Given the description of an element on the screen output the (x, y) to click on. 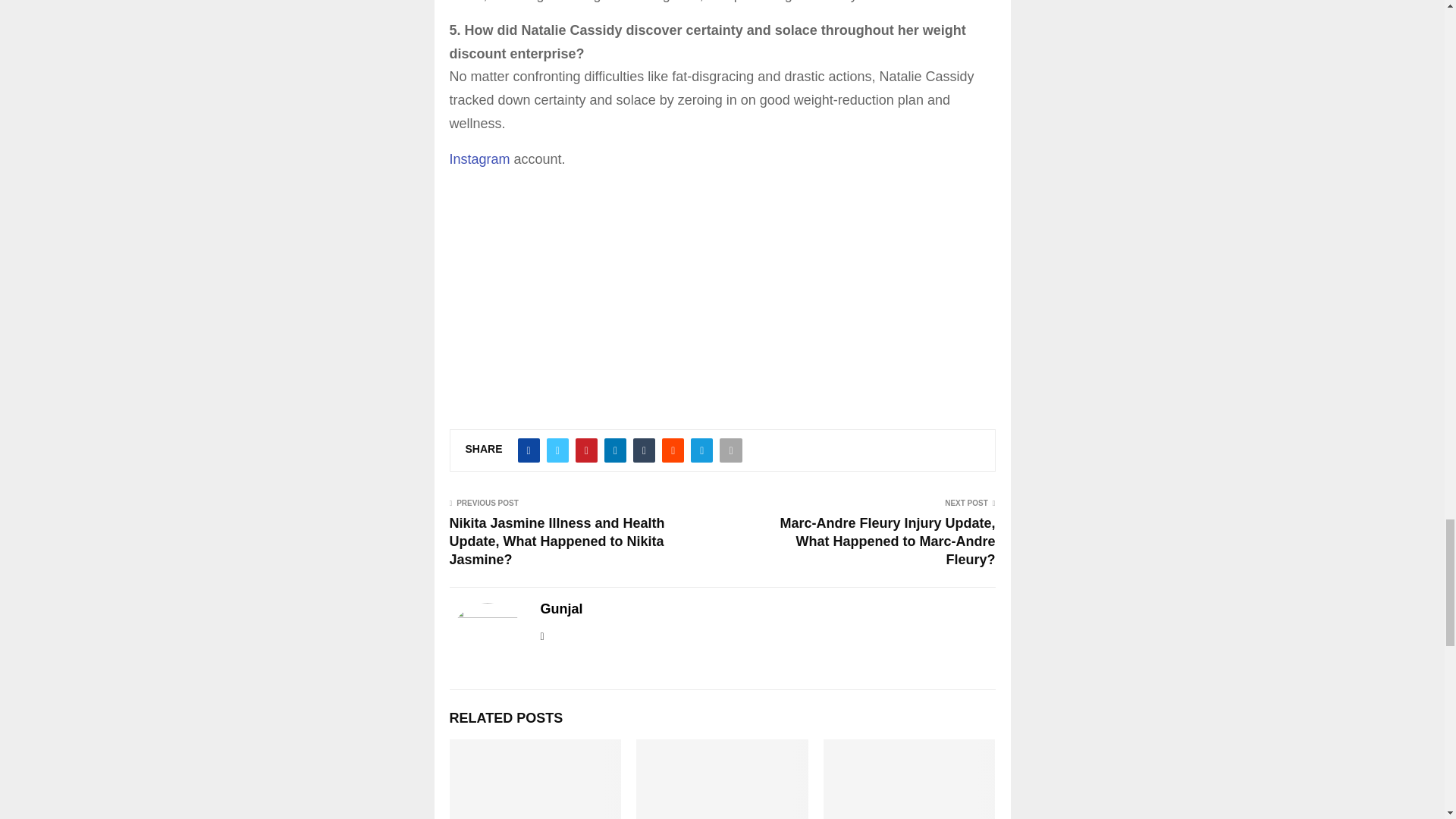
Instagram (478, 159)
